Given the description of an element on the screen output the (x, y) to click on. 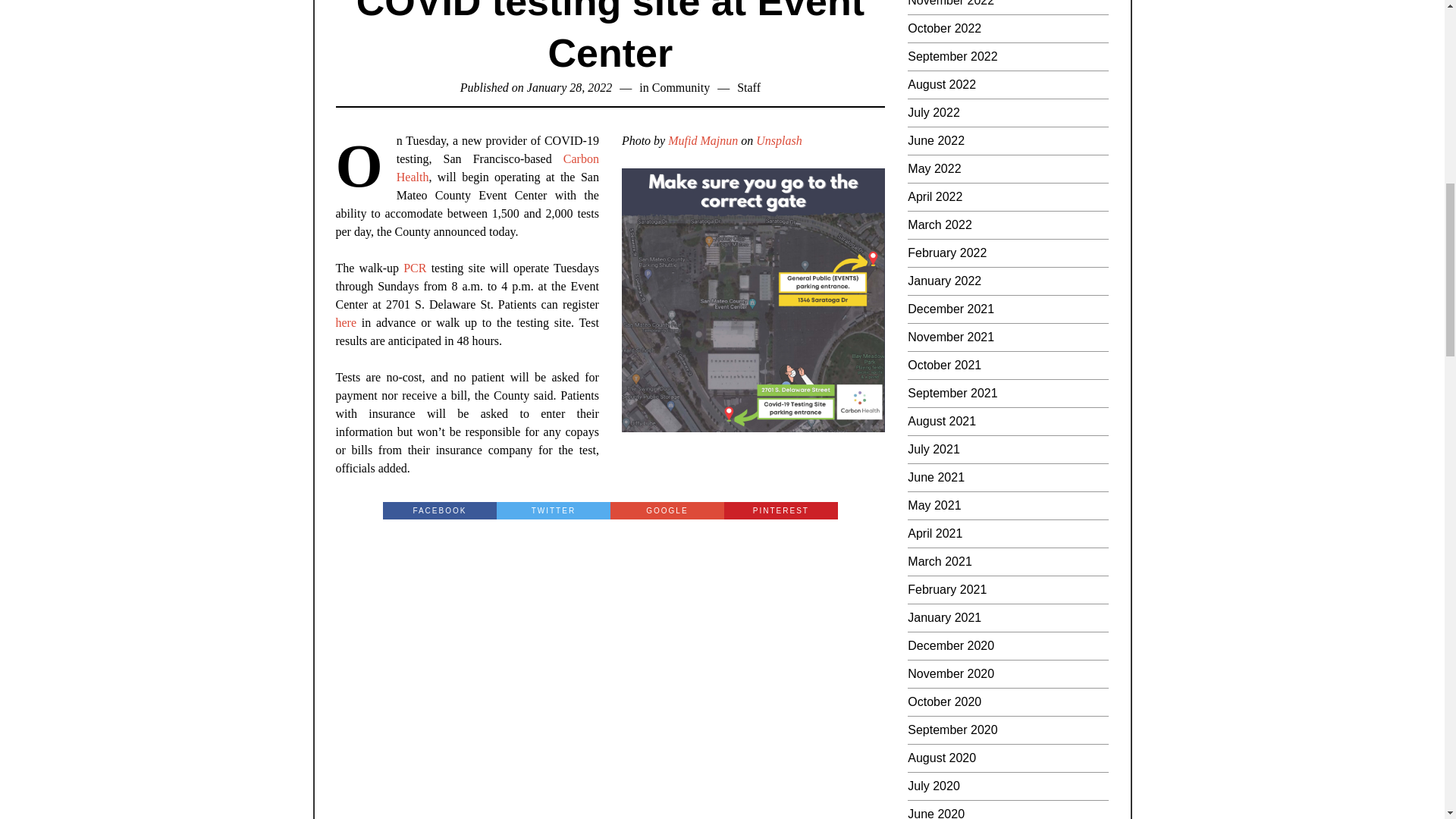
Community (681, 87)
September 2022 (952, 56)
PCR (414, 267)
June 2022 (935, 140)
Posts by Staff (748, 87)
TWITTER (553, 510)
August 2022 (941, 83)
Staff (748, 87)
May 2022 (933, 168)
Mufid Majnun (703, 140)
October 2022 (944, 28)
November 2022 (950, 3)
PINTEREST (780, 510)
GOOGLE (666, 510)
here (345, 322)
